Given the description of an element on the screen output the (x, y) to click on. 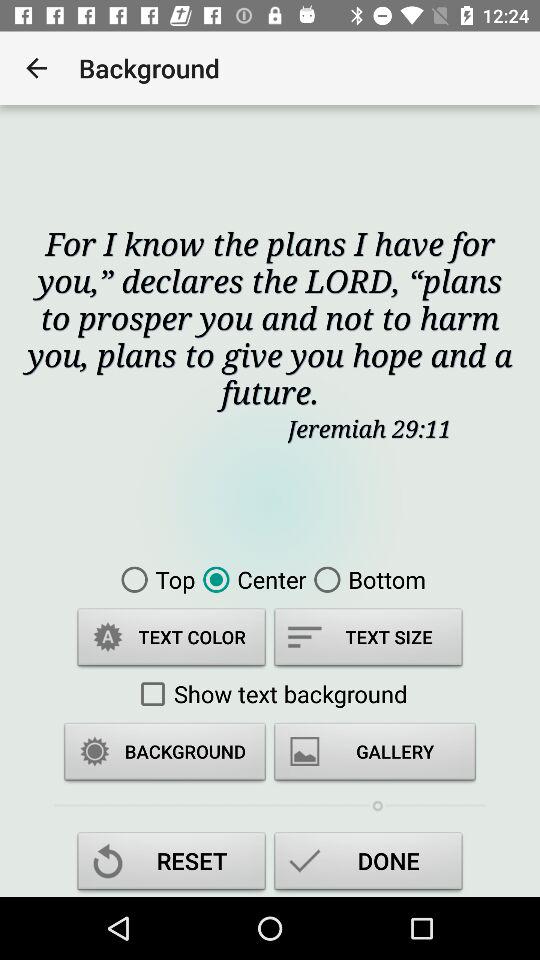
choose the item to the right of center icon (365, 579)
